Given the description of an element on the screen output the (x, y) to click on. 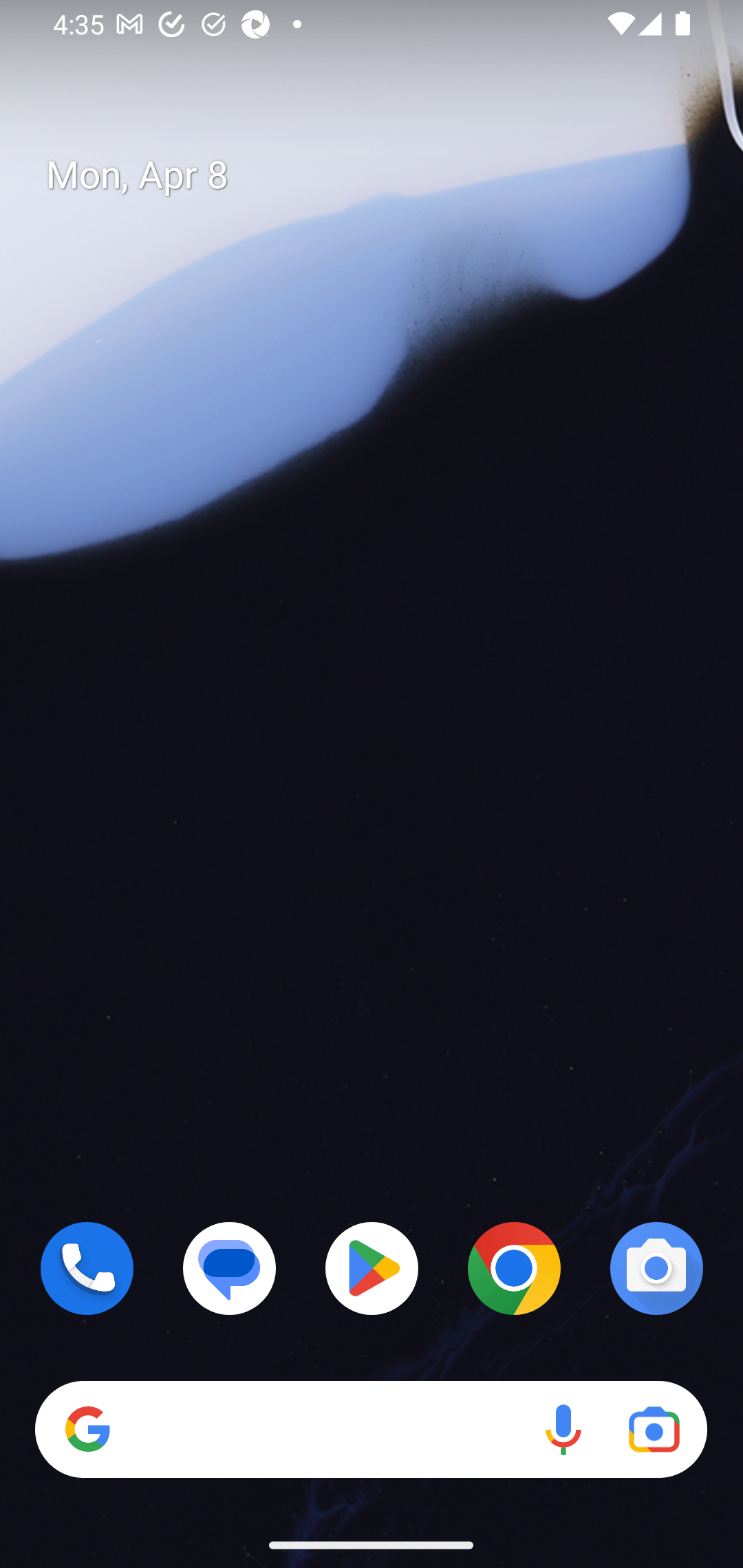
Mon, Apr 8 (386, 175)
Phone (86, 1268)
Messages (229, 1268)
Play Store (371, 1268)
Chrome (513, 1268)
Camera (656, 1268)
Search Voice search Google Lens (370, 1429)
Voice search (562, 1429)
Google Lens (653, 1429)
